Given the description of an element on the screen output the (x, y) to click on. 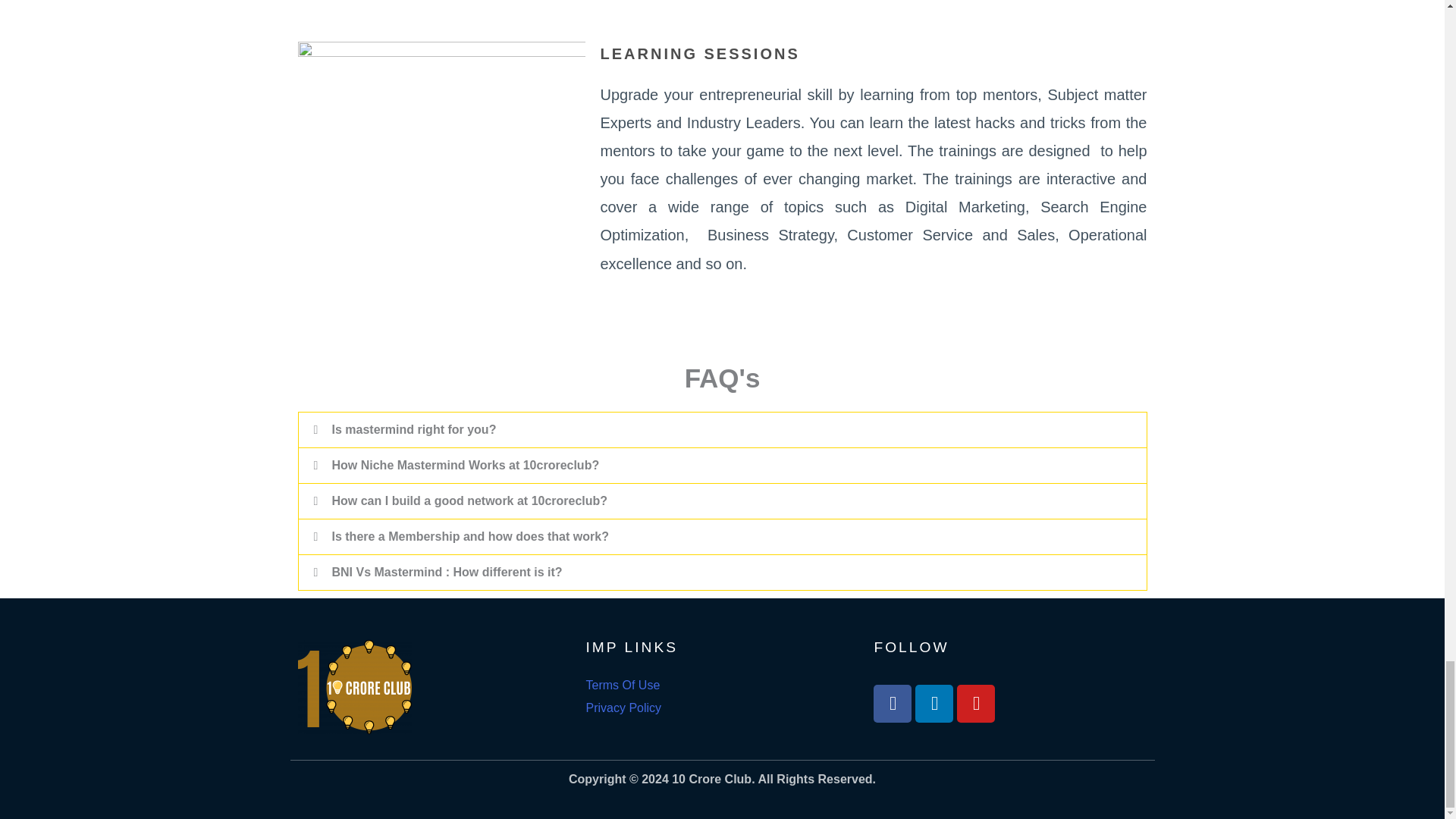
Is mastermind right for you? (413, 429)
Is there a Membership and how does that work? (469, 535)
How can I build a good network at 10croreclub? (469, 500)
BNI Vs Mastermind : How different is it? (446, 571)
Terms Of Use (622, 684)
How Niche Mastermind Works at 10croreclub? (465, 464)
Privacy Policy (623, 707)
